Given the description of an element on the screen output the (x, y) to click on. 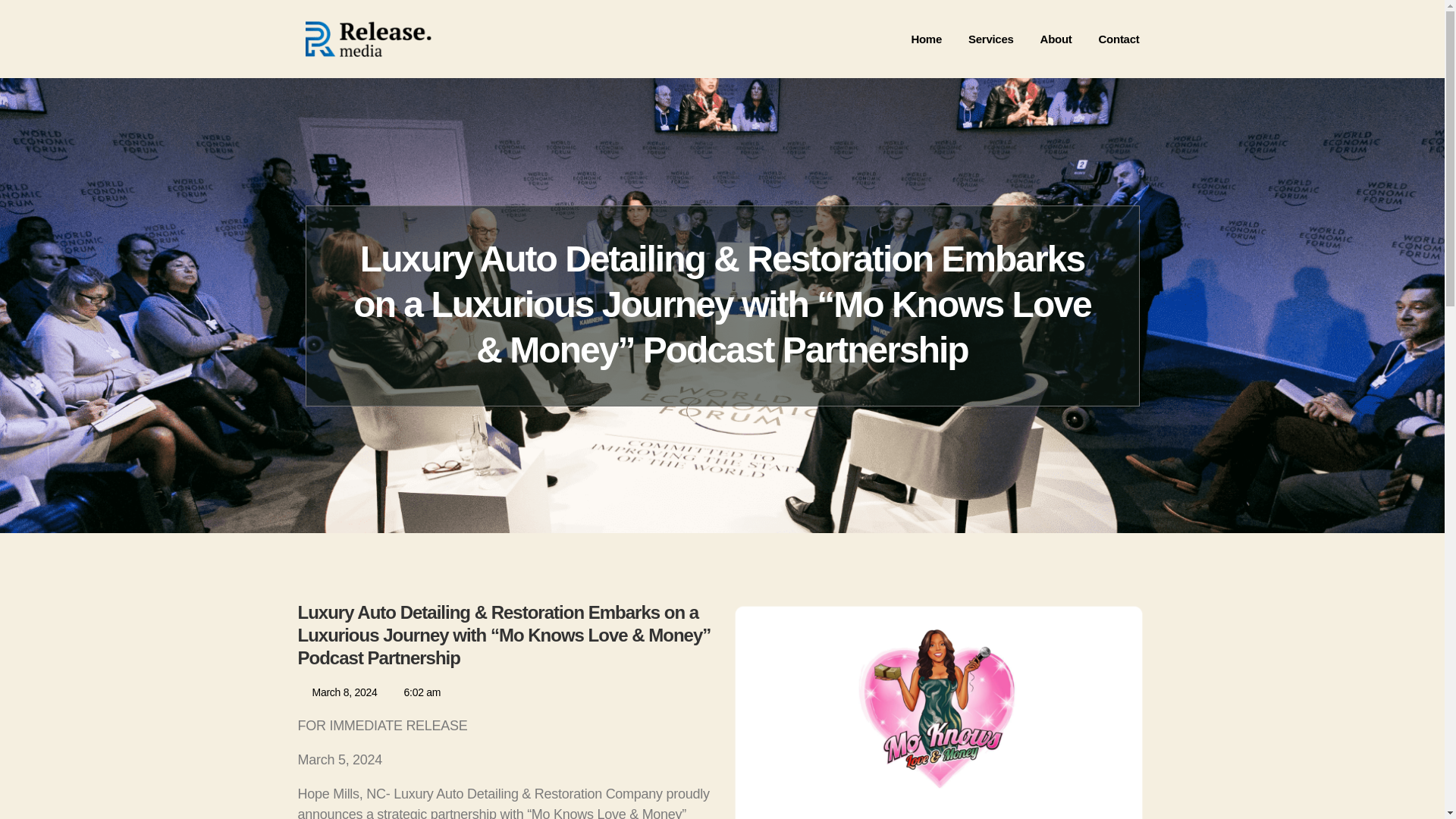
March 8, 2024 (337, 692)
Services (990, 38)
Contact (1119, 38)
About (1056, 38)
Home (926, 38)
